Given the description of an element on the screen output the (x, y) to click on. 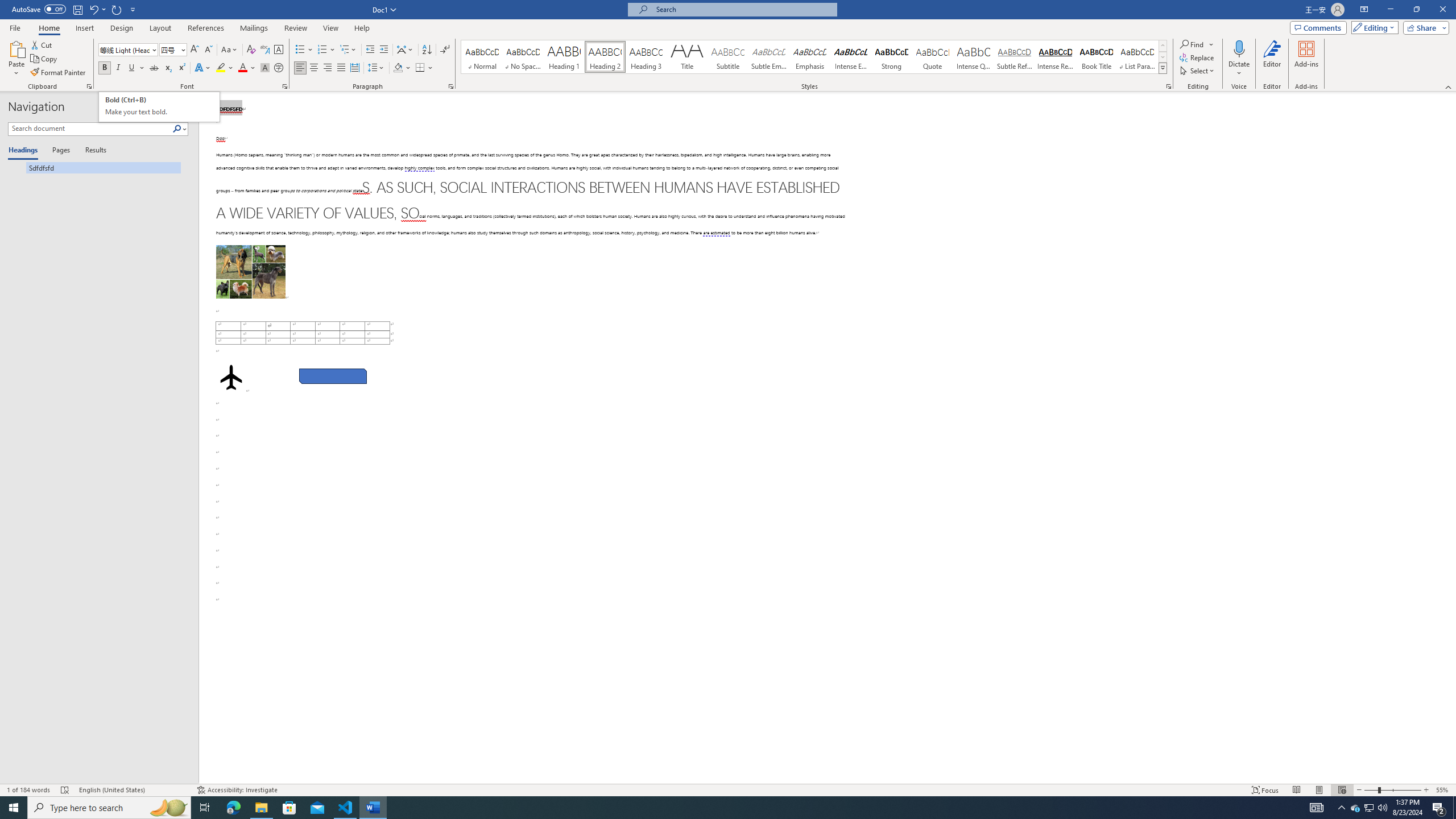
Bullets (300, 49)
Font Color (246, 67)
Read Mode (1296, 790)
File Tab (15, 27)
Font Color Red (241, 67)
Airplane with solid fill (230, 376)
Subtle Emphasis (768, 56)
Headings (25, 150)
Search document (89, 128)
References (205, 28)
Rectangle: Diagonal Corners Snipped 2 (332, 376)
Bold (104, 67)
Zoom 55% (159, 106)
